Given the description of an element on the screen output the (x, y) to click on. 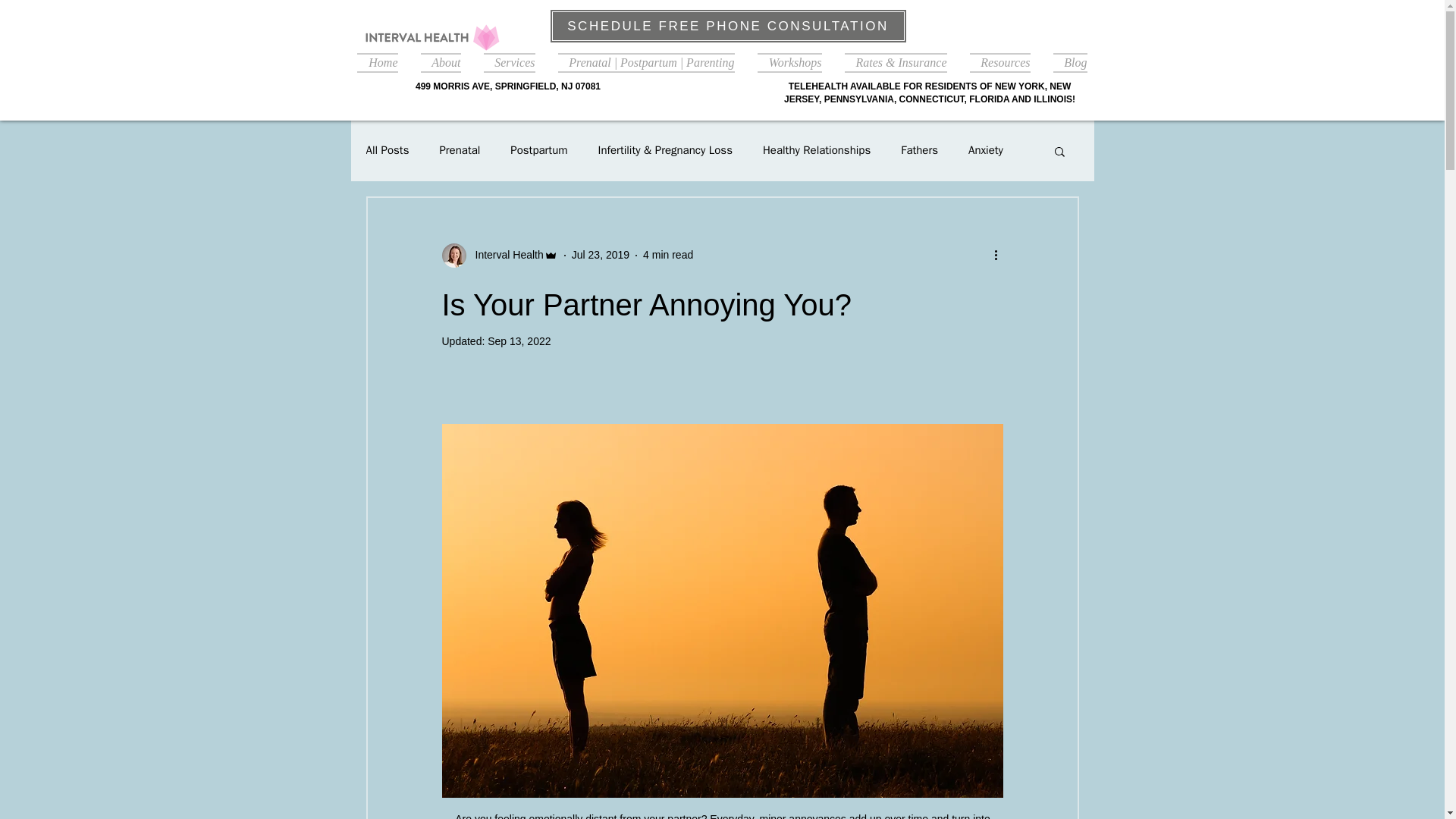
Home (382, 60)
Interval Health  (504, 254)
Postpartum (539, 150)
All Posts (387, 150)
Blog (1064, 60)
Prenatal (459, 150)
Fathers (919, 150)
Healthy Relationships (816, 150)
SCHEDULE FREE PHONE CONSULTATION (726, 26)
Anxiety (985, 150)
